Given the description of an element on the screen output the (x, y) to click on. 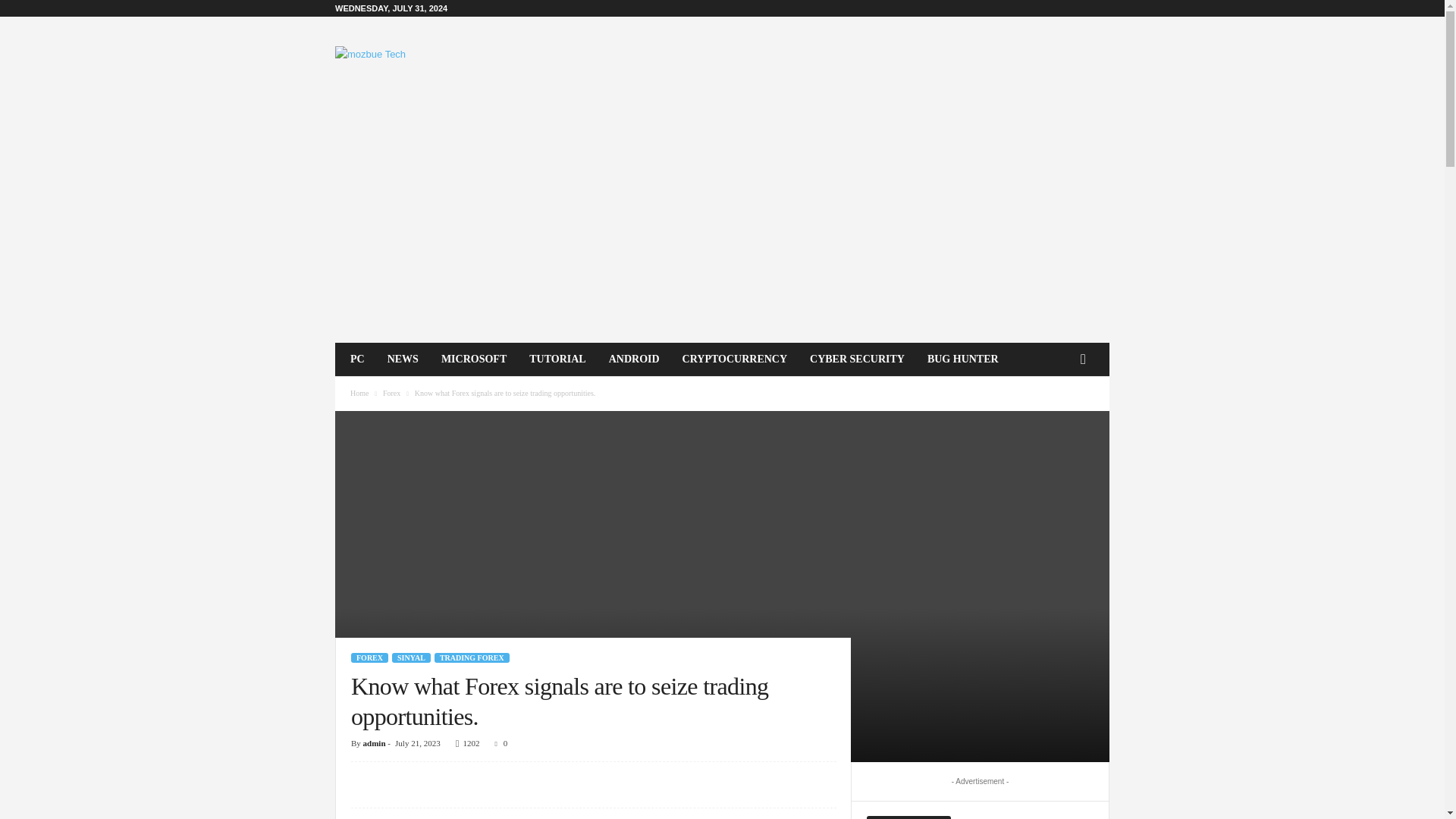
View all posts in Forex (391, 393)
TUTORIAL (557, 359)
Home (359, 393)
MICROSOFT (473, 359)
0 (498, 742)
SINYAL (410, 657)
BUG HUNTER (962, 359)
Mozbue Tech Info And News (437, 65)
NEWS (402, 359)
PC (357, 359)
admin (373, 742)
Forex (391, 393)
CRYPTOCURRENCY (734, 359)
TRADING FOREX (471, 657)
